Given the description of an element on the screen output the (x, y) to click on. 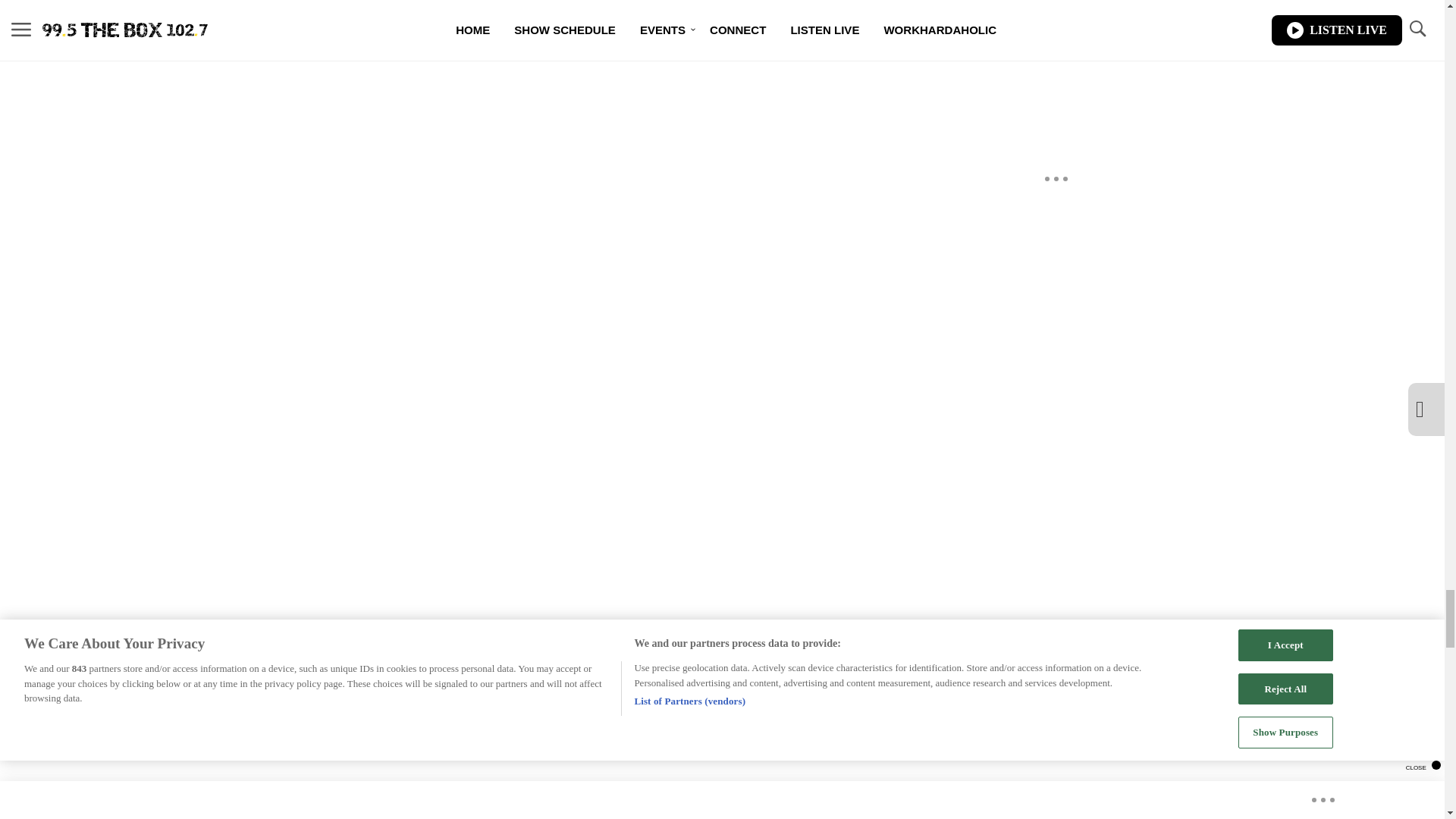
Vuukle Comments Widget (585, 102)
